Given the description of an element on the screen output the (x, y) to click on. 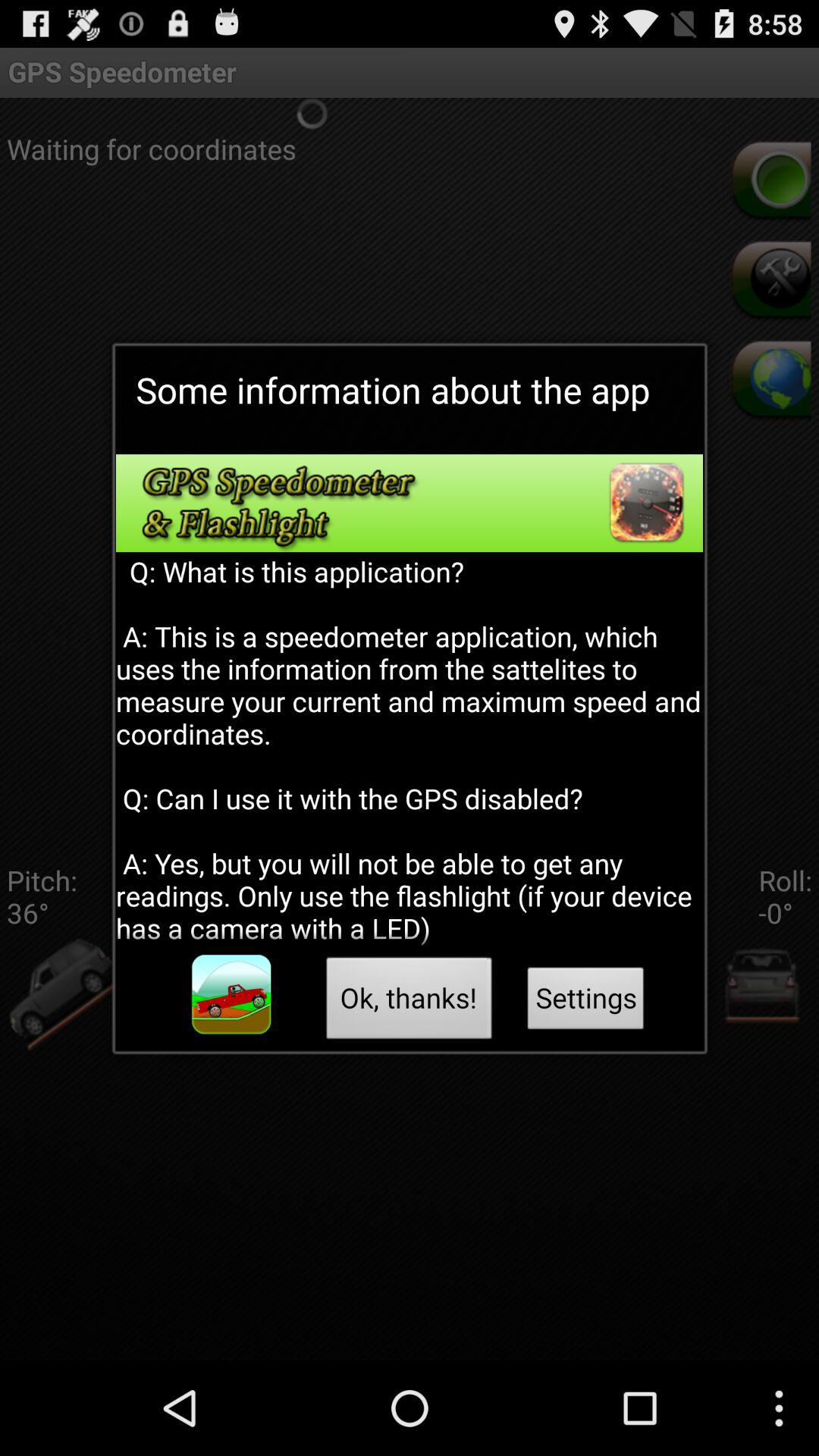
used to find a route for a particular place (231, 994)
